Given the description of an element on the screen output the (x, y) to click on. 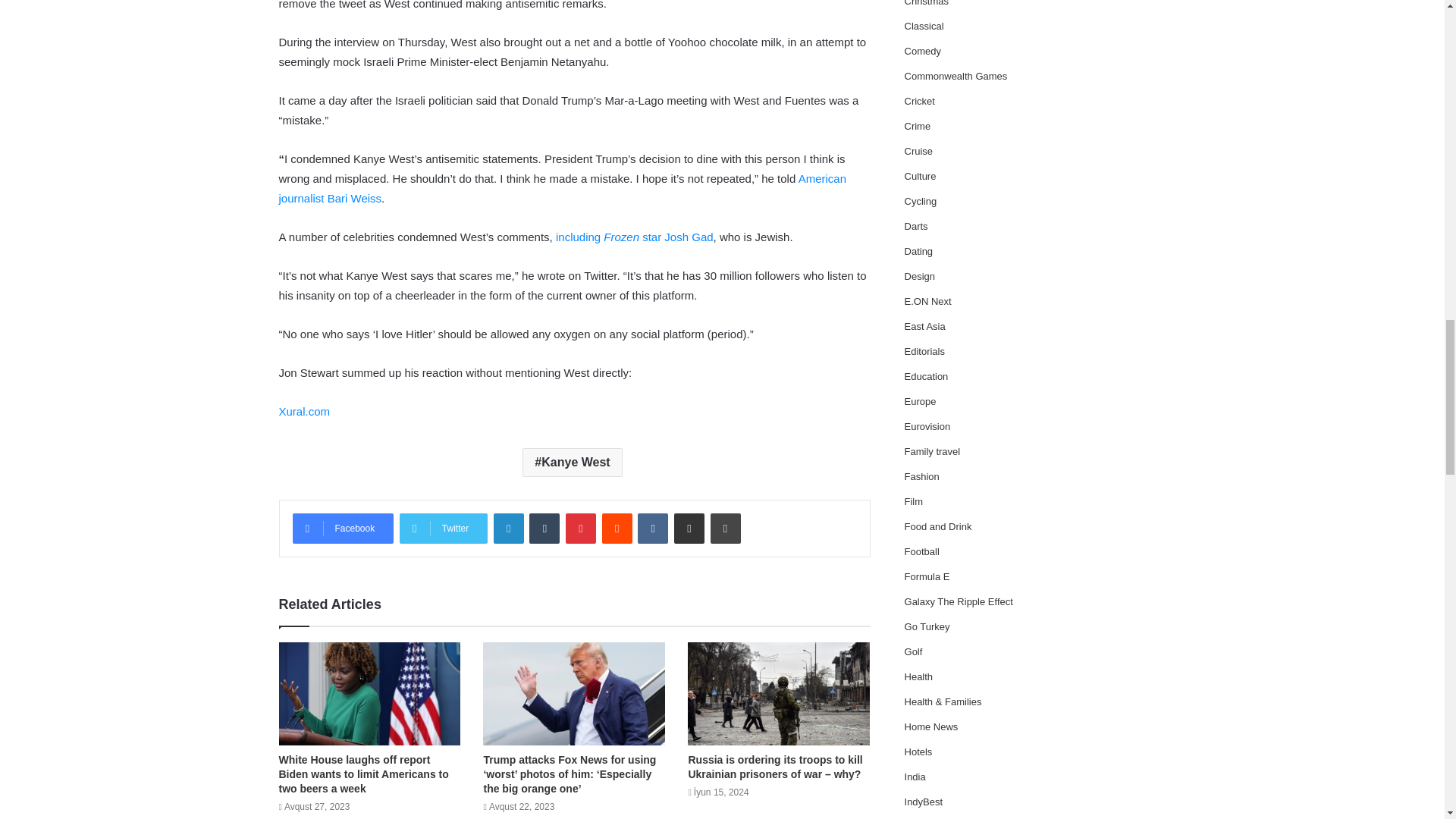
Share via Email (689, 528)
Facebook (343, 528)
VKontakte (652, 528)
Reddit (616, 528)
Pinterest (580, 528)
Print (725, 528)
Tumblr (544, 528)
including Frozen star Josh Gad (634, 236)
LinkedIn (508, 528)
Share via Email (689, 528)
